Given the description of an element on the screen output the (x, y) to click on. 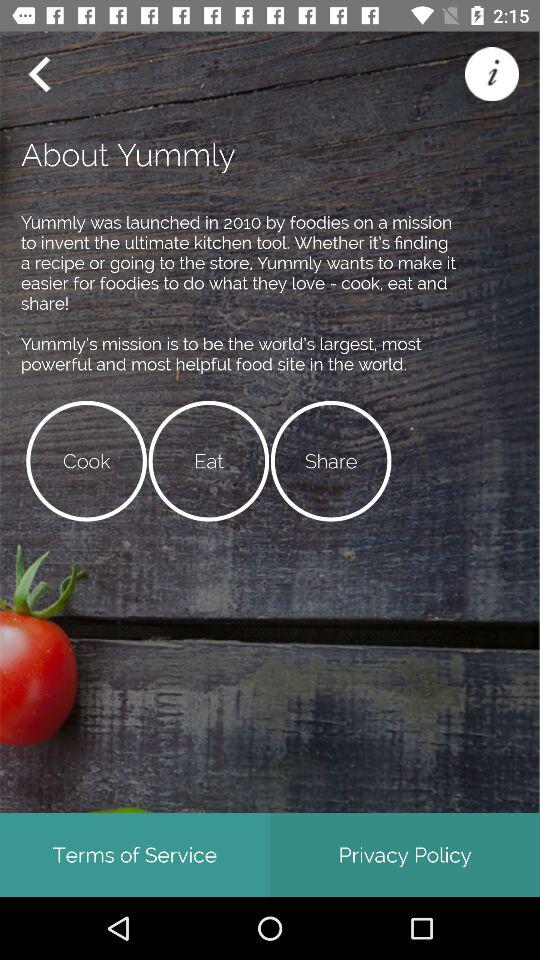
go back (39, 74)
